Given the description of an element on the screen output the (x, y) to click on. 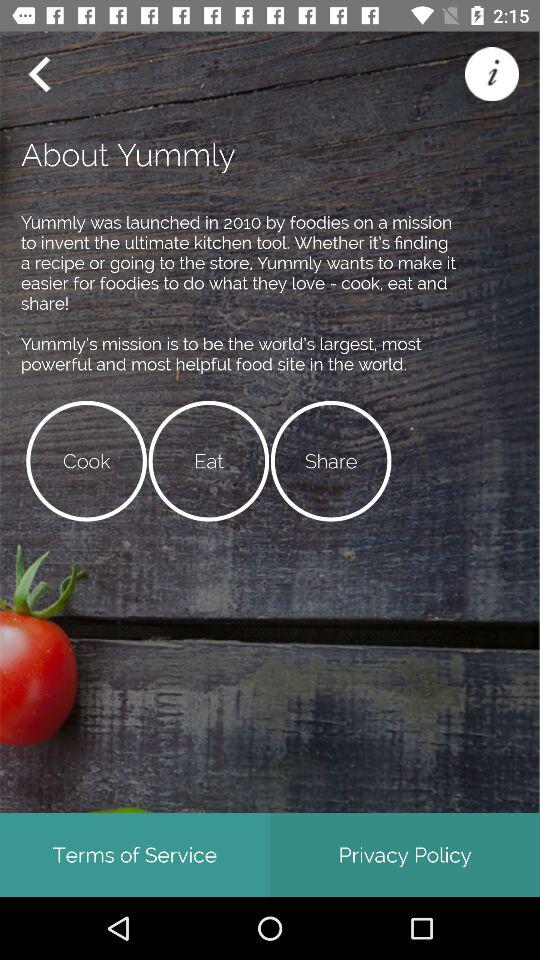
go back (39, 74)
